Given the description of an element on the screen output the (x, y) to click on. 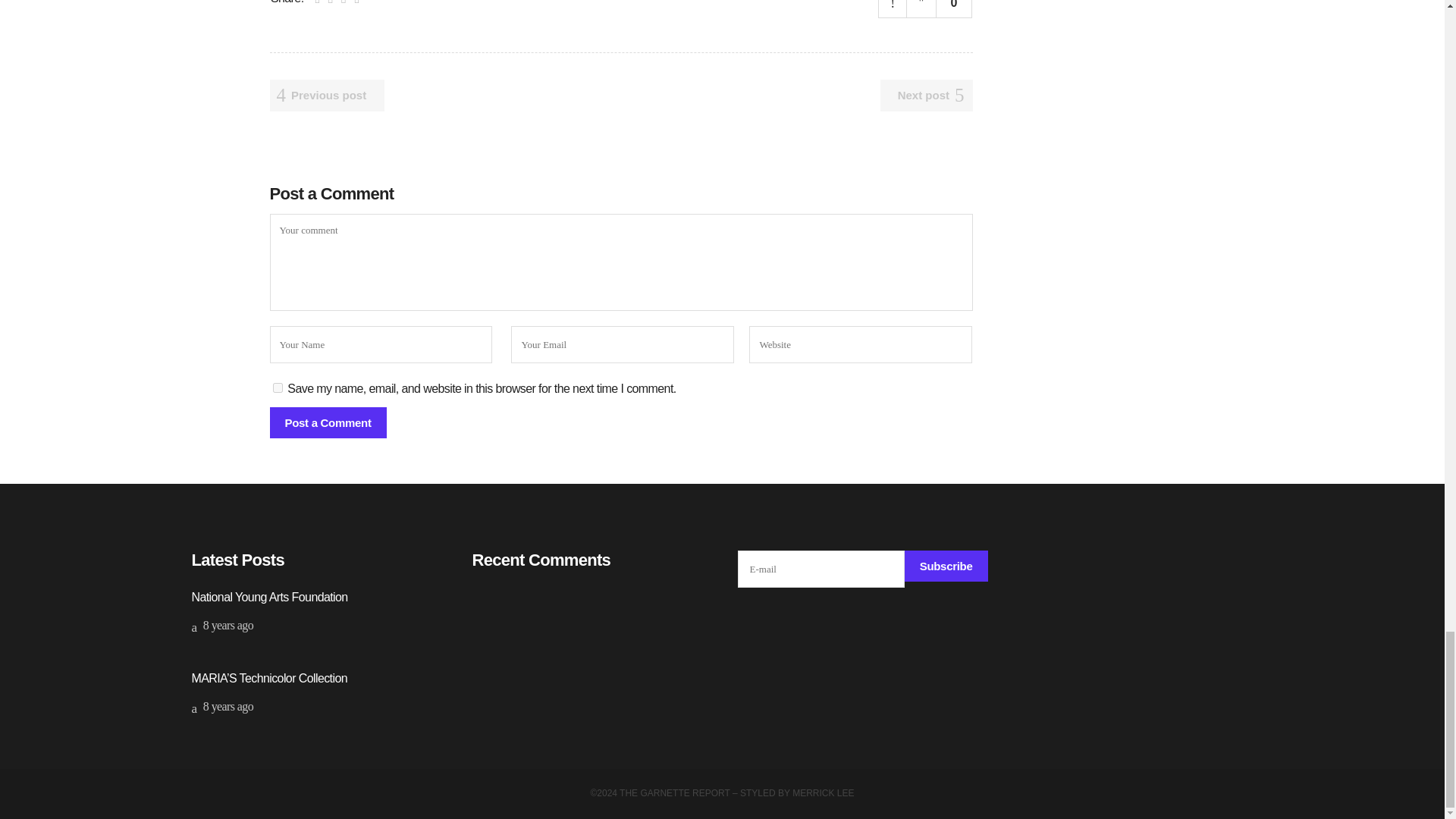
Subscribe (946, 565)
Post a Comment (328, 422)
yes (277, 388)
National Young Arts Foundation (268, 596)
